Given the description of an element on the screen output the (x, y) to click on. 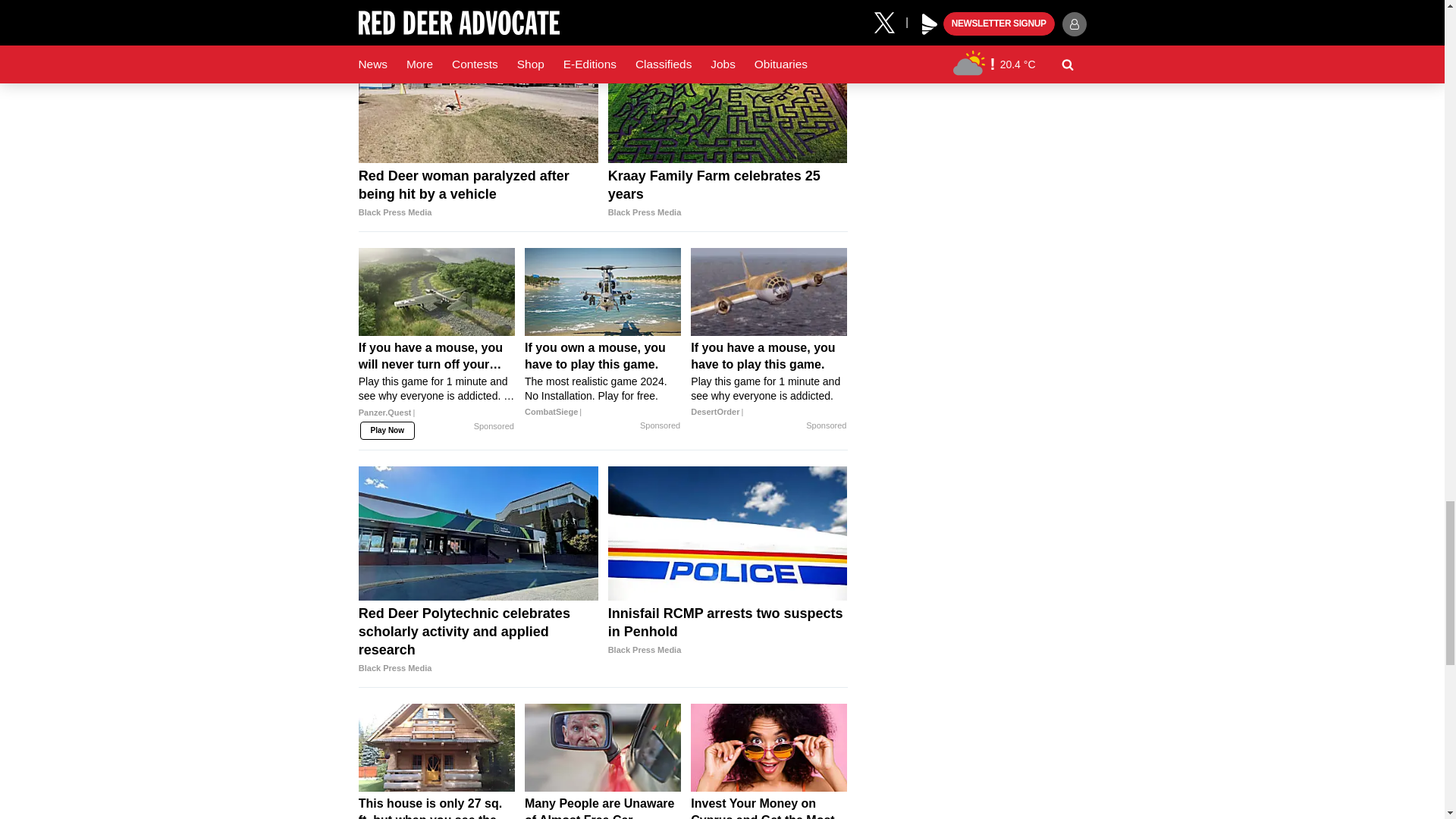
Kraay Family Farm celebrates 25 years (727, 94)
Red Deer woman paralyzed after being hit by a vehicle (478, 194)
Kraay Family Farm celebrates 25 years (727, 194)
Red Deer woman paralyzed after being hit by a vehicle (478, 94)
